Given the description of an element on the screen output the (x, y) to click on. 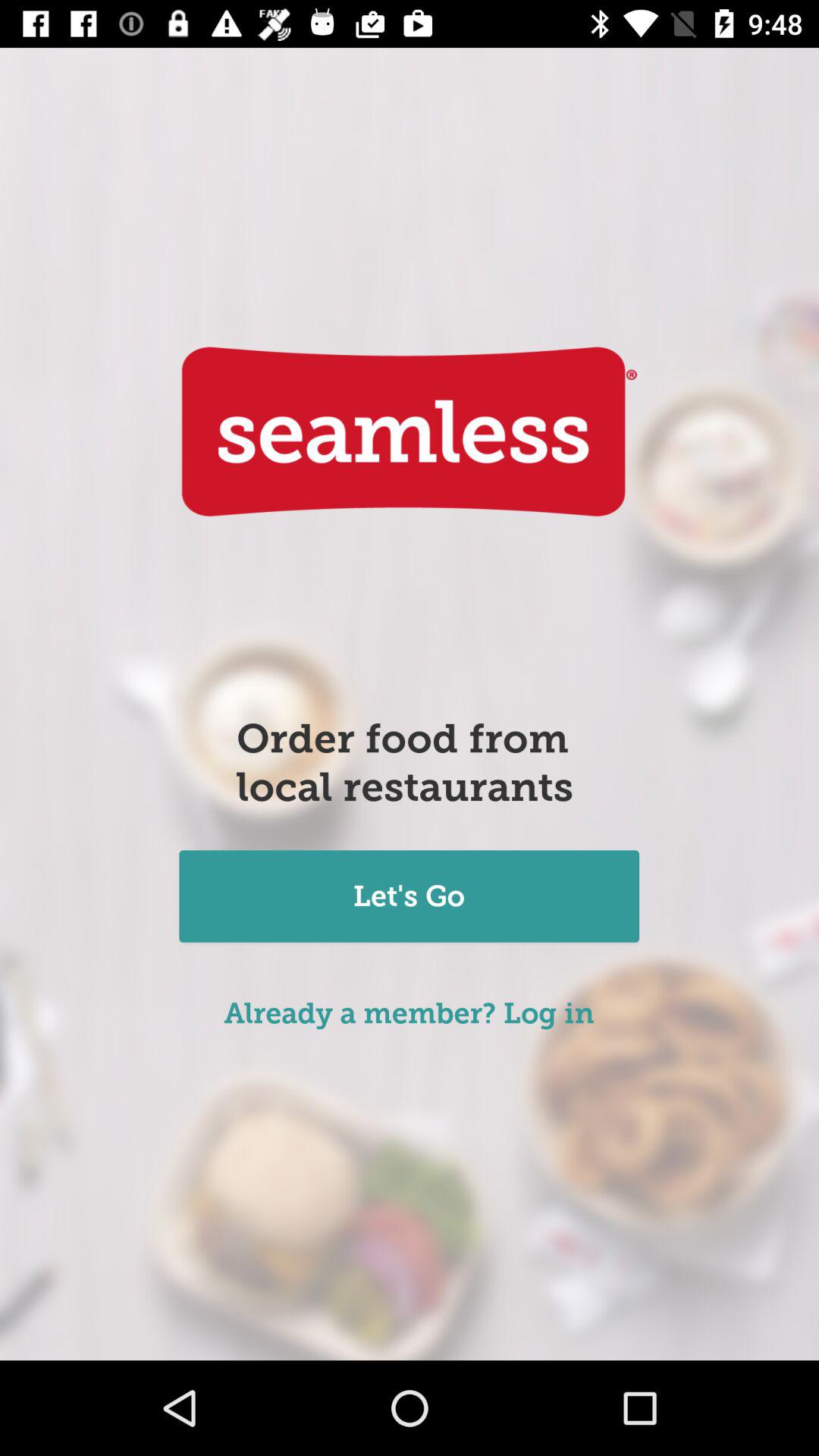
click icon above already a member (409, 897)
